Given the description of an element on the screen output the (x, y) to click on. 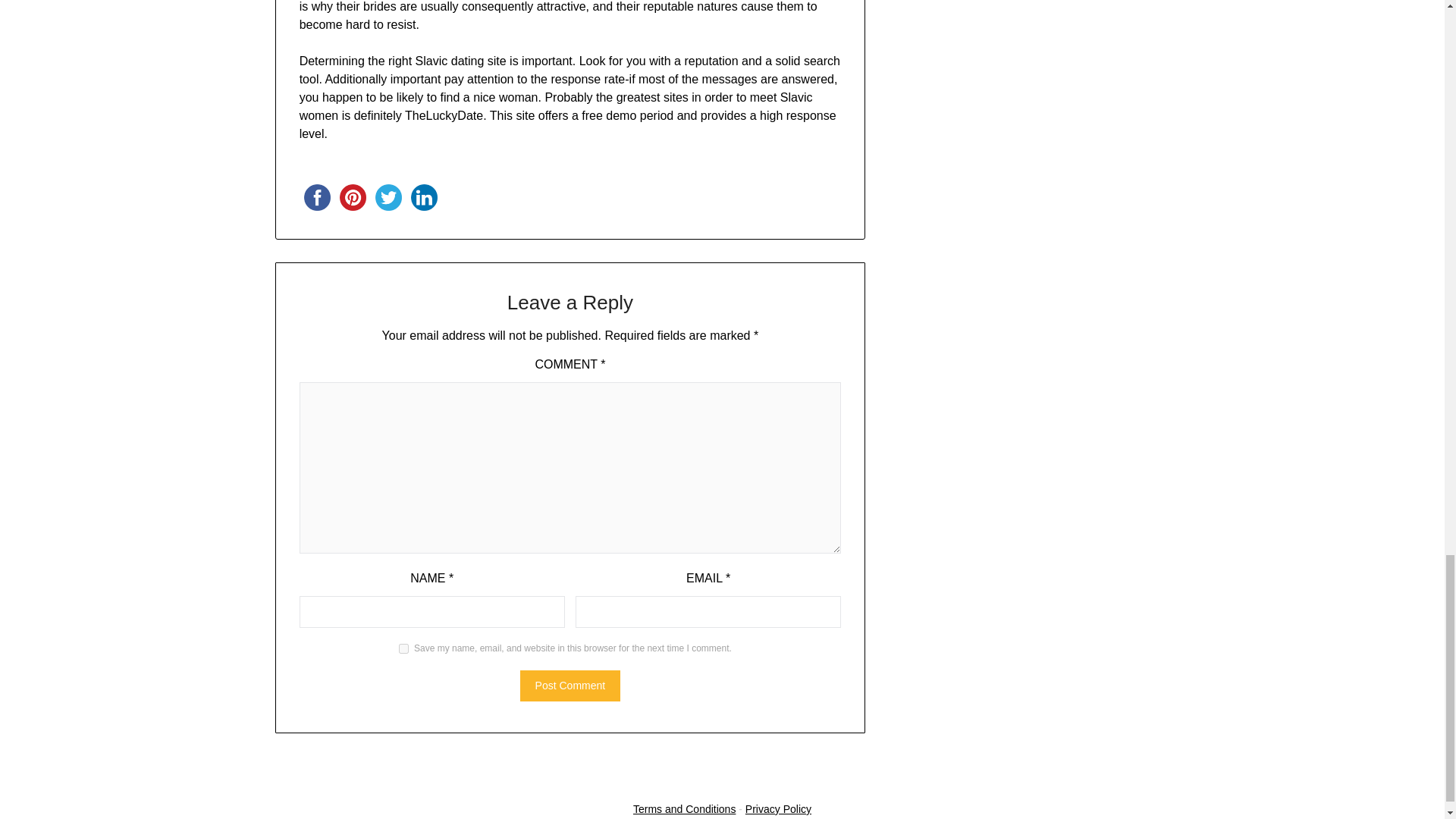
Post Comment (570, 685)
Facebook (316, 197)
Post Comment (570, 685)
LinkedIn (424, 197)
yes (403, 648)
Minimalist Blog (741, 777)
Pinterest (352, 197)
Privacy Policy (777, 808)
Twitter (388, 197)
Terms and Conditions (684, 808)
